Given the description of an element on the screen output the (x, y) to click on. 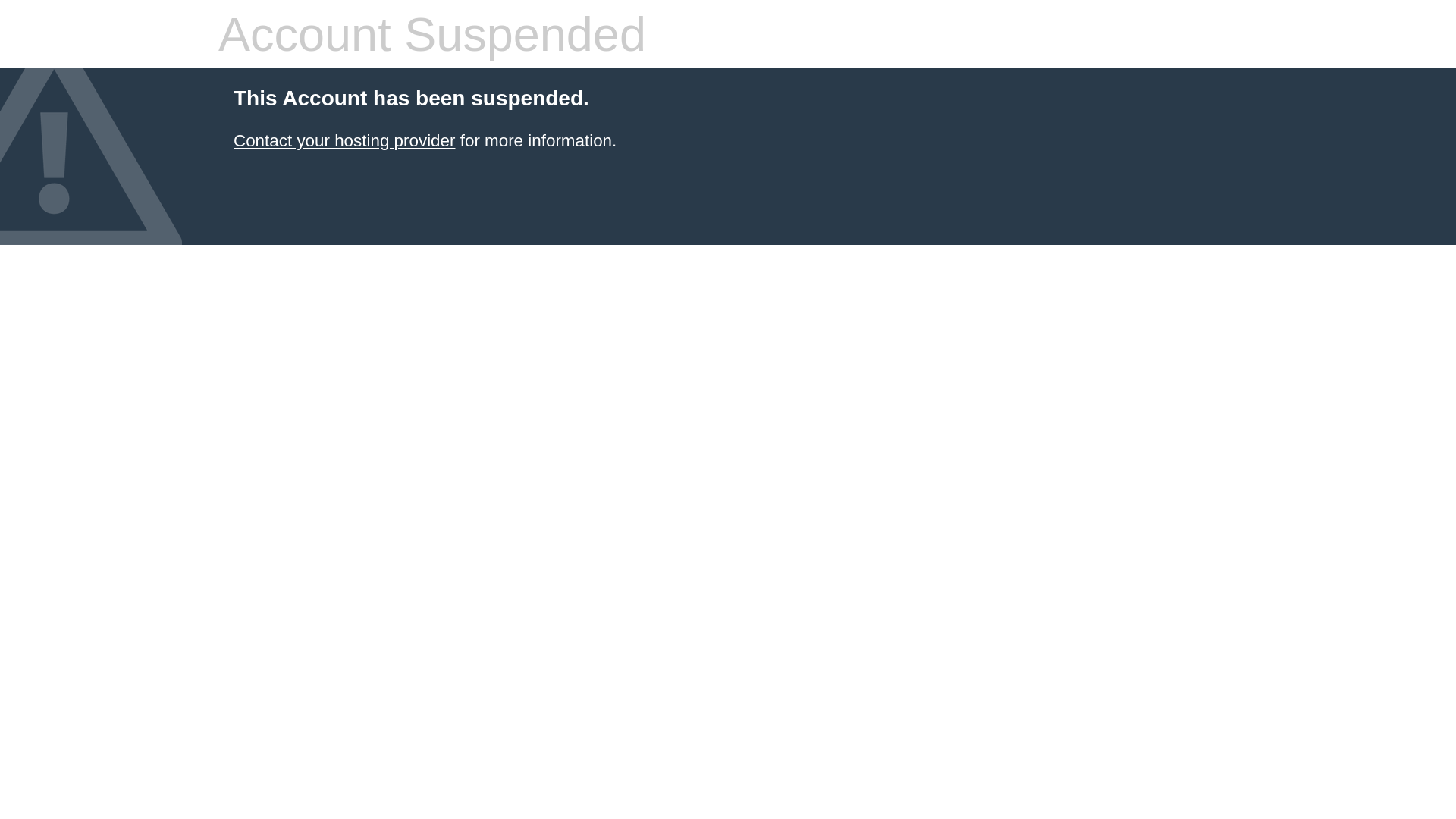
Contact your hosting provider Element type: text (344, 140)
